Given the description of an element on the screen output the (x, y) to click on. 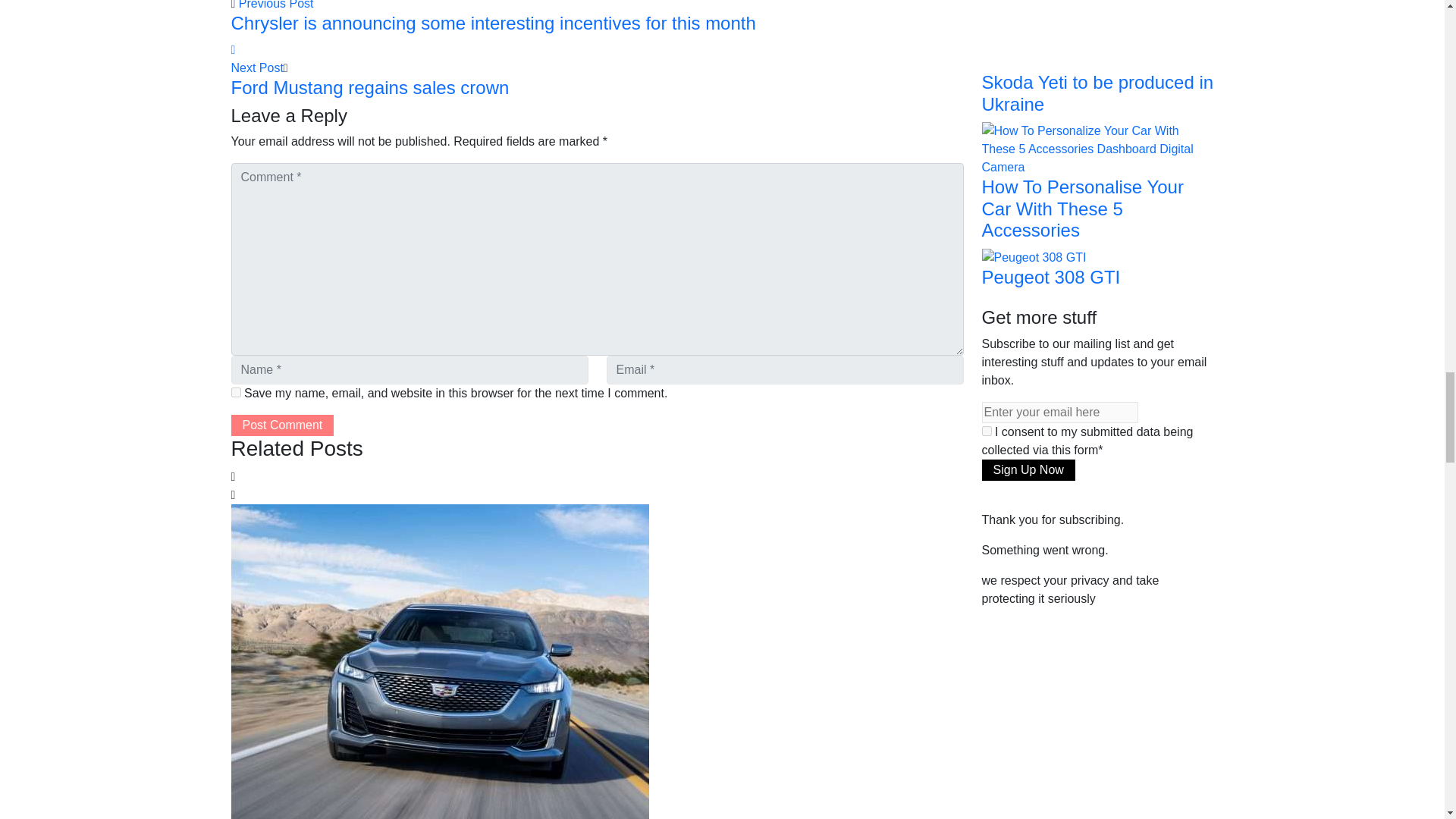
yes (235, 392)
How To Personalise Your Car With These 5 Accessories (1096, 147)
Post Comment (281, 424)
Sign Up Now (1027, 469)
on (986, 430)
